Given the description of an element on the screen output the (x, y) to click on. 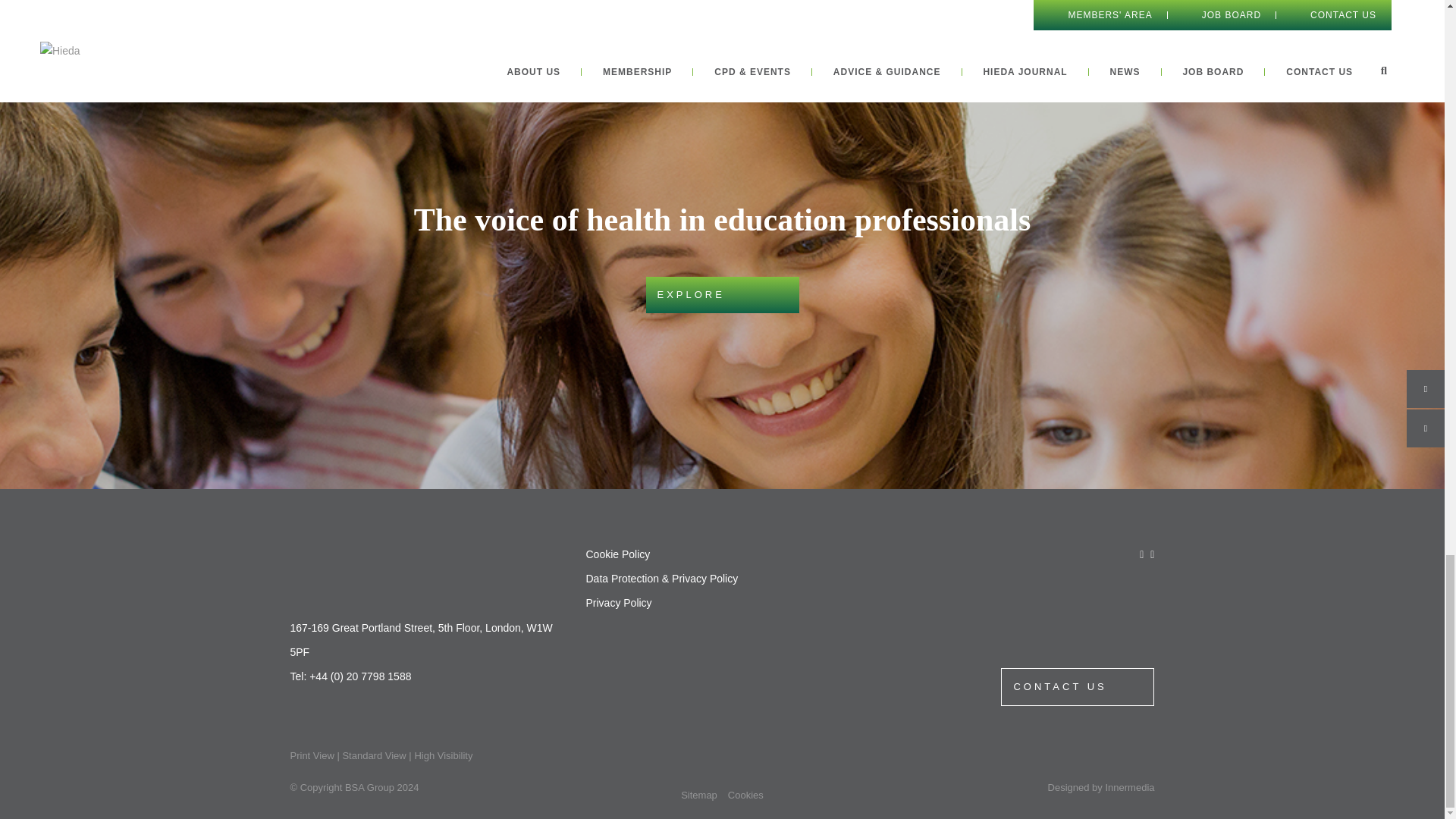
Switch to High Visibility (442, 755)
Switch to Print (311, 755)
Switch to Standard Visibility (374, 755)
